Given the description of an element on the screen output the (x, y) to click on. 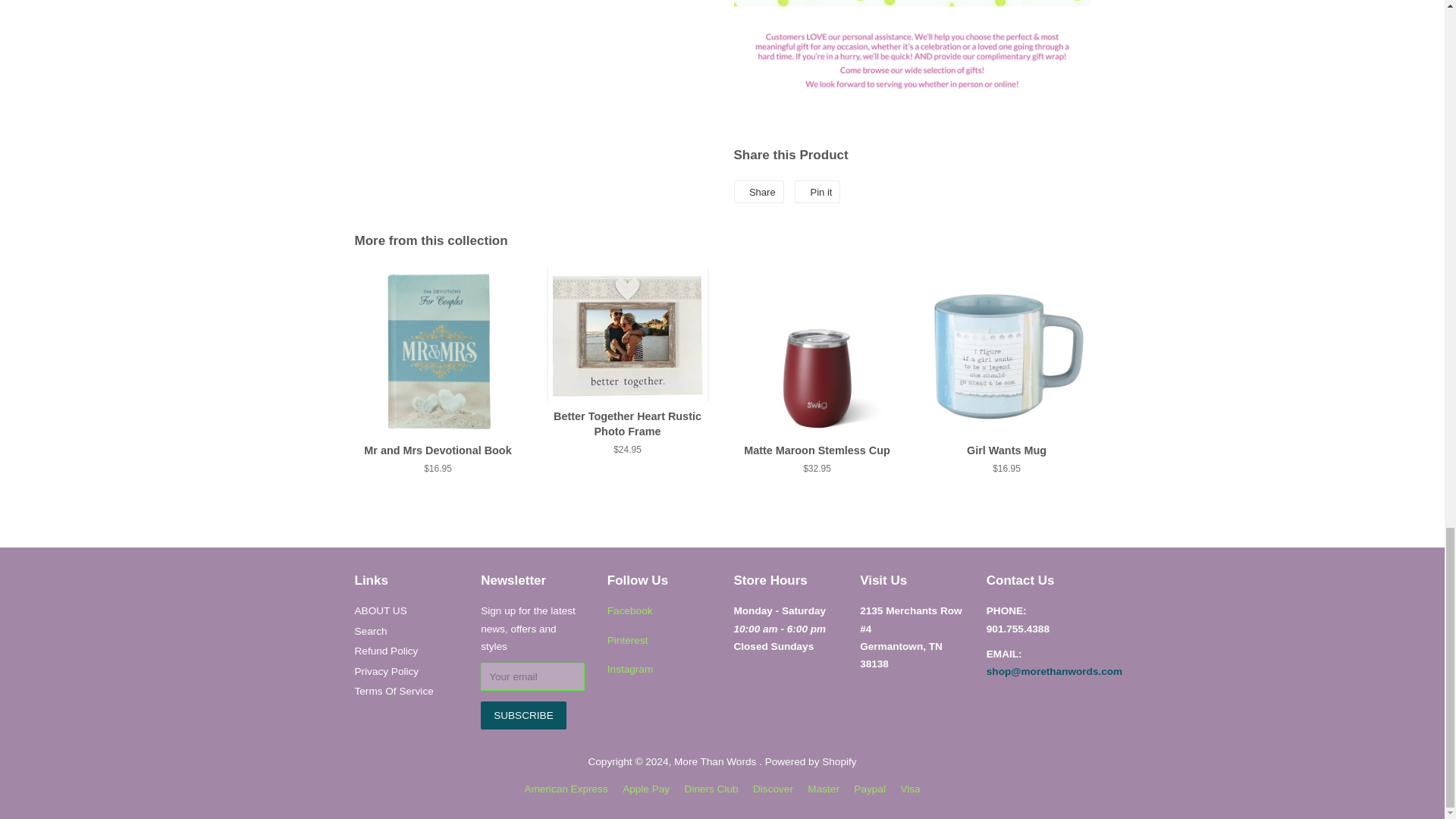
Subscribe (523, 715)
More Than Words  on Pinterest (627, 640)
Pin on Pinterest (817, 191)
Share on Facebook (758, 191)
More Than Words  on Instagram (629, 668)
More Than Words  on Facebook (629, 610)
